Given the description of an element on the screen output the (x, y) to click on. 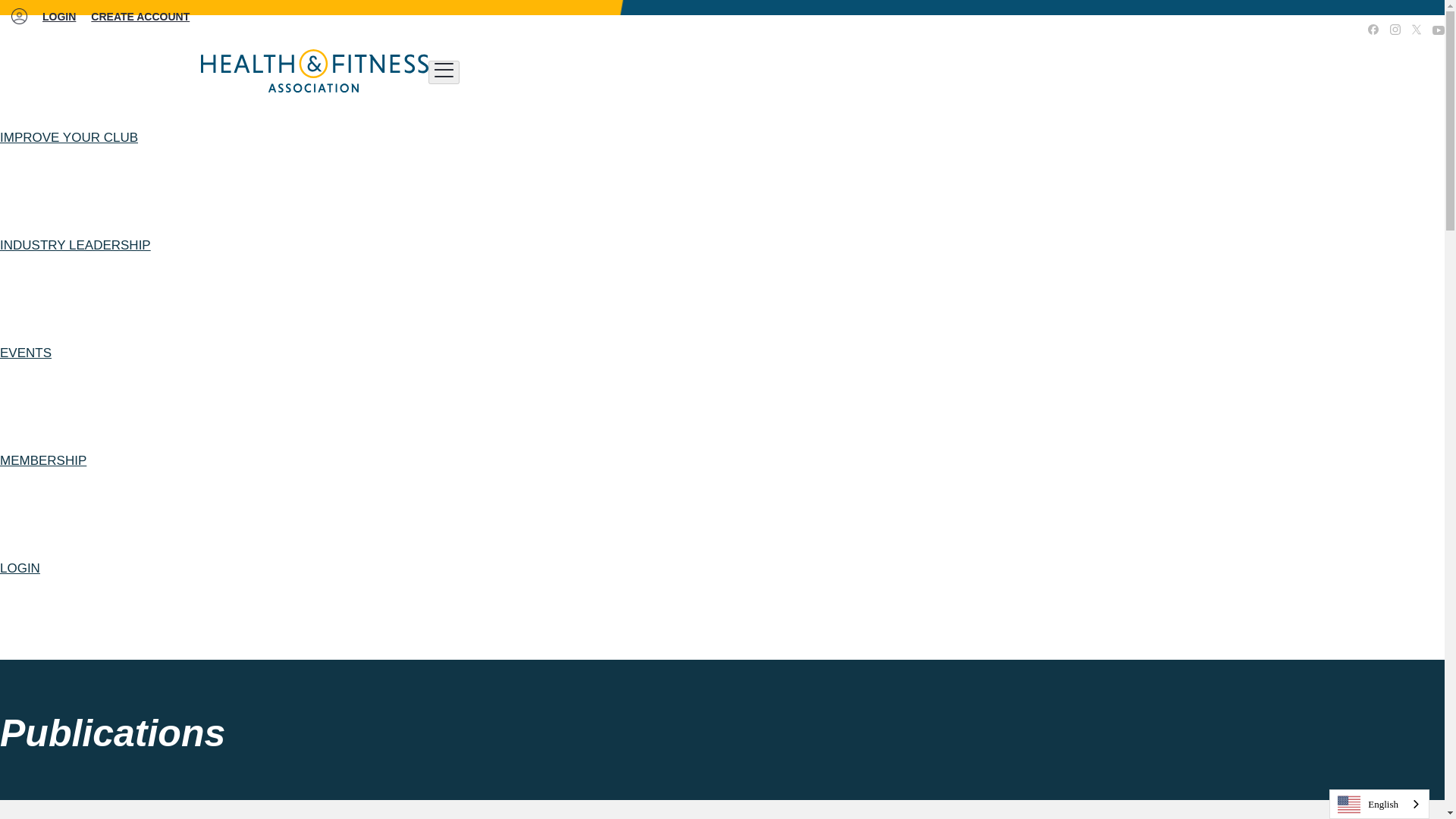
IMPROVE YOUR CLUB (69, 137)
Toggle navigation (444, 72)
ABOUT (1261, 30)
SEARCH (1209, 30)
CONTACT (1317, 30)
INDUSTRY LEADERSHIP (75, 245)
LOGIN (58, 16)
CREATE ACCOUNT (139, 16)
